Given the description of an element on the screen output the (x, y) to click on. 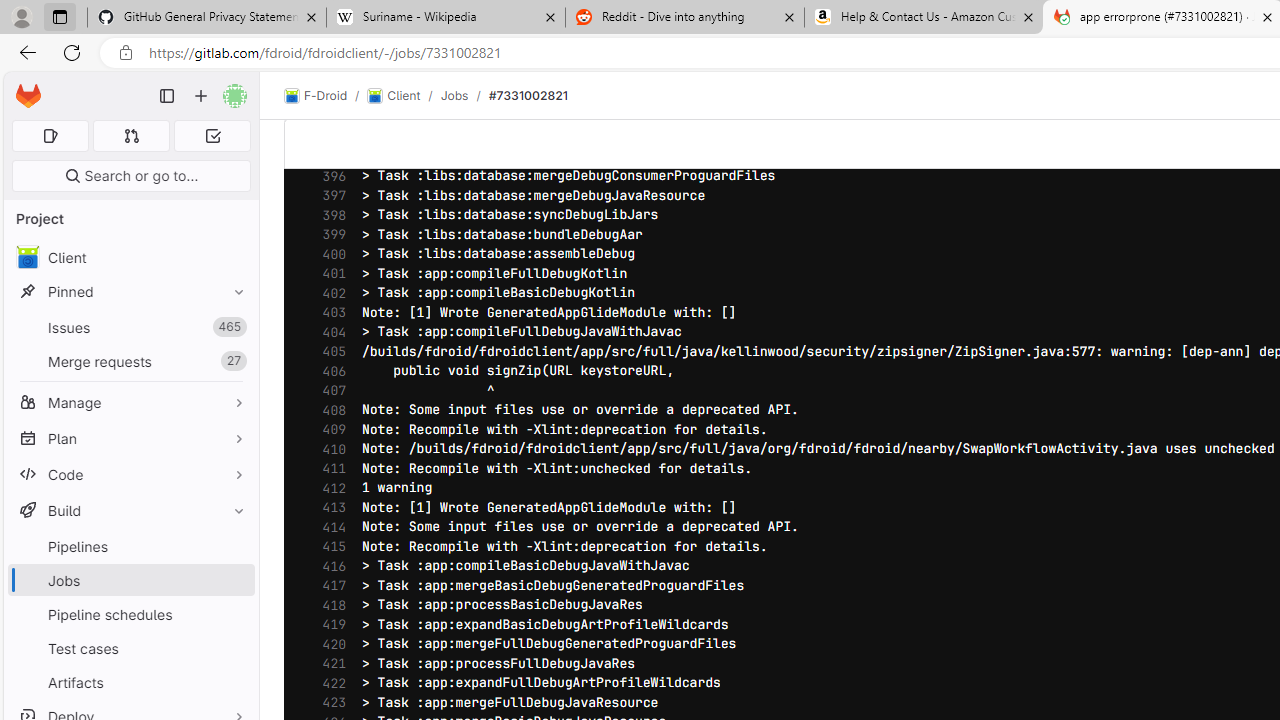
423 (329, 702)
419 (329, 624)
BuildPipelinesJobsPipeline schedulesTest casesArtifacts (130, 596)
410 (329, 449)
Plan (130, 438)
412 (329, 488)
Assigned issues 0 (50, 136)
414 (329, 526)
Artifacts (130, 682)
Pipeline schedules (130, 614)
405 (329, 352)
391 (329, 79)
Jobs (454, 95)
